Given the description of an element on the screen output the (x, y) to click on. 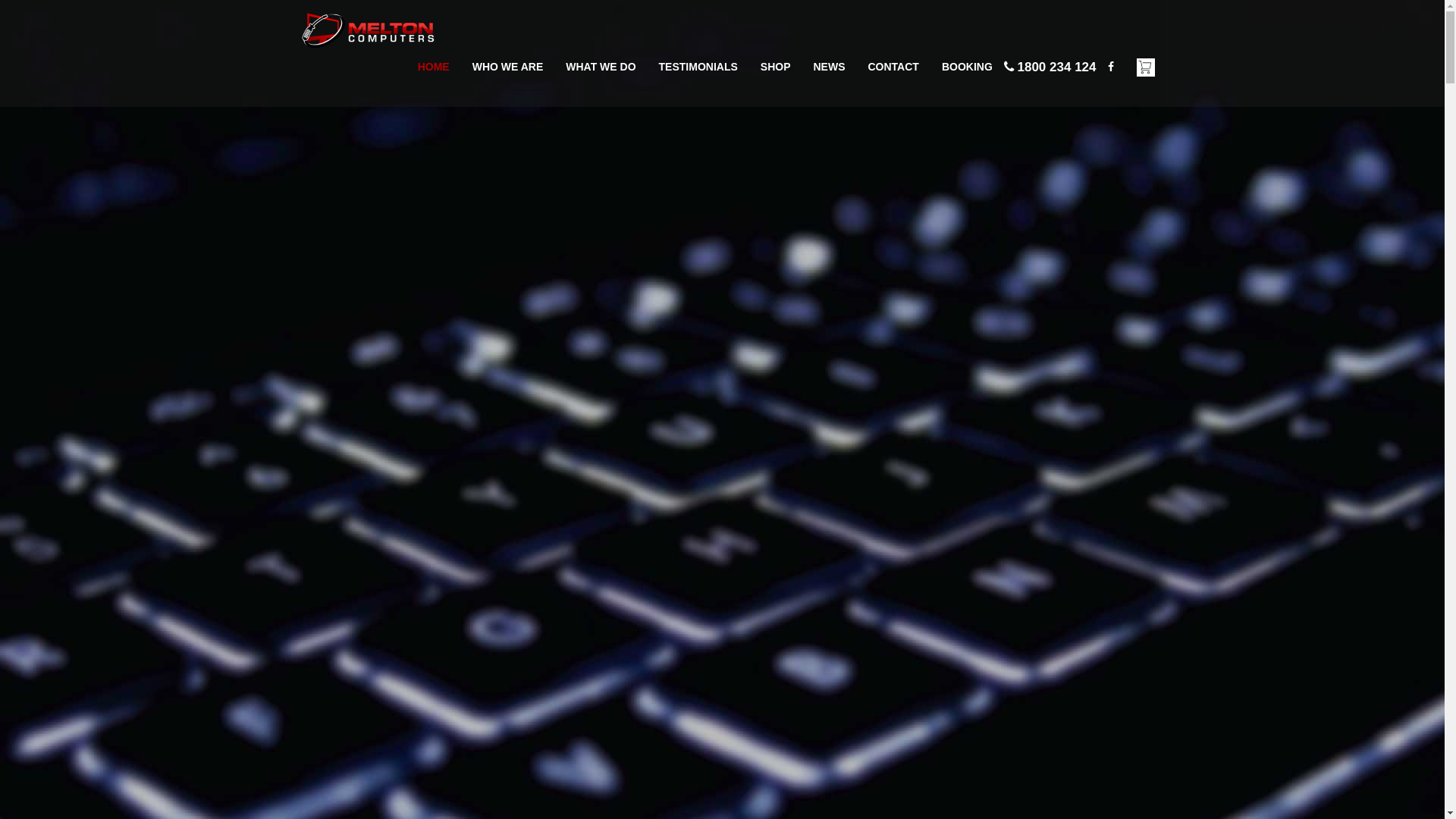
SHOP Element type: text (775, 66)
HOME Element type: text (433, 66)
Contact Element type: hover (1110, 66)
Navbar Band Element type: hover (366, 24)
WHO WE ARE Element type: text (508, 66)
NEWS Element type: text (828, 66)
BOOKING Element type: text (967, 66)
TESTIMONIALS Element type: text (698, 66)
CONTACT Element type: text (892, 66)
WHAT WE DO Element type: text (600, 66)
